Given the description of an element on the screen output the (x, y) to click on. 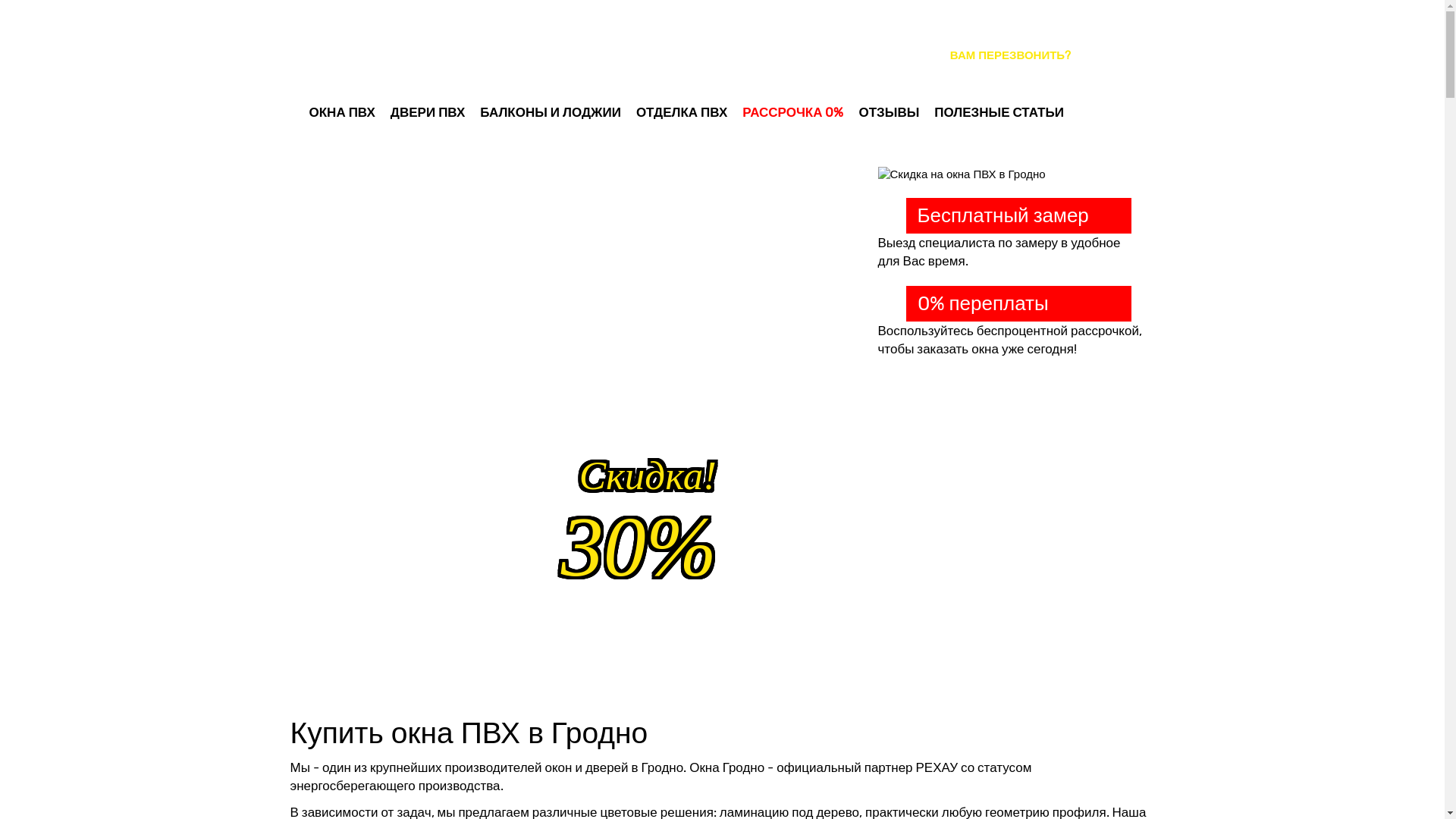
+375 (33) 340-22-90 Element type: text (1010, 26)
